Given the description of an element on the screen output the (x, y) to click on. 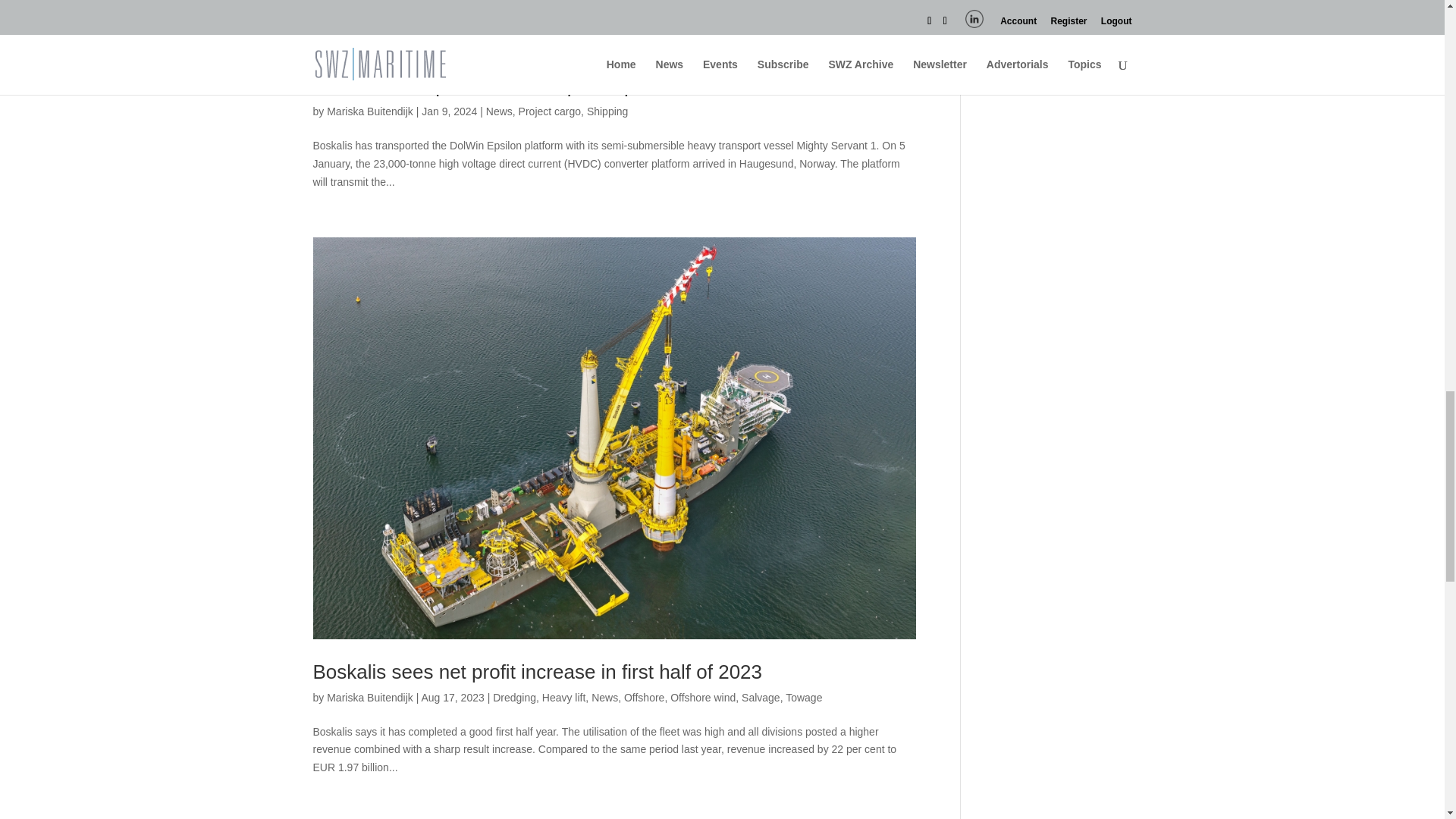
Posts by Mariska Buitendijk (369, 697)
Posts by Mariska Buitendijk (369, 111)
